Given the description of an element on the screen output the (x, y) to click on. 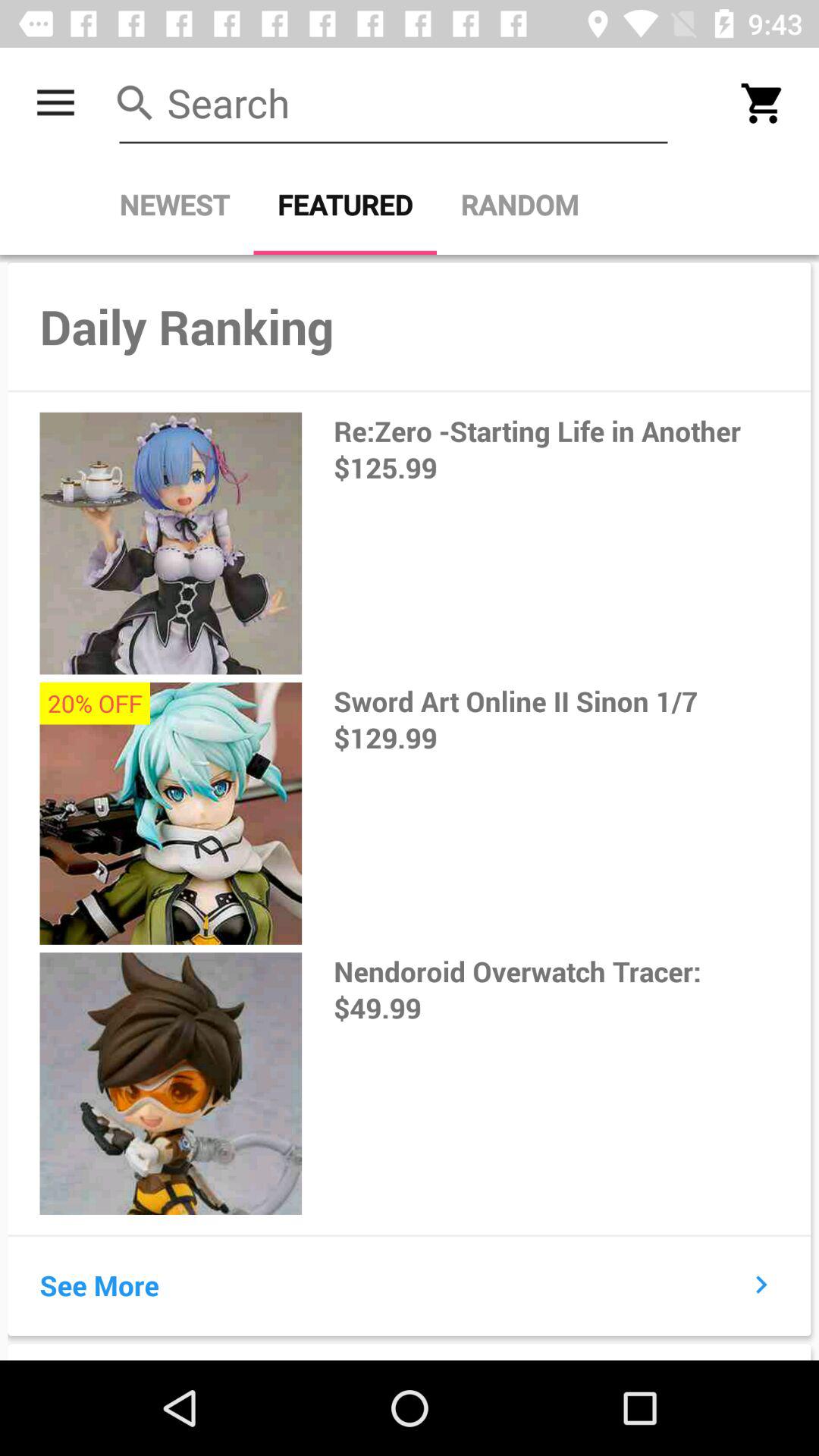
swipe until newest item (174, 204)
